Given the description of an element on the screen output the (x, y) to click on. 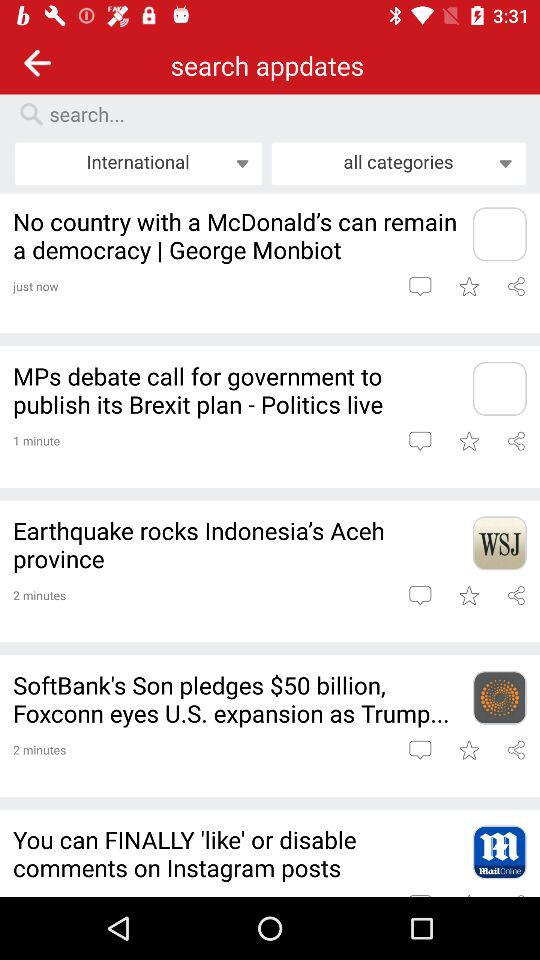
news outlet logo (499, 234)
